Given the description of an element on the screen output the (x, y) to click on. 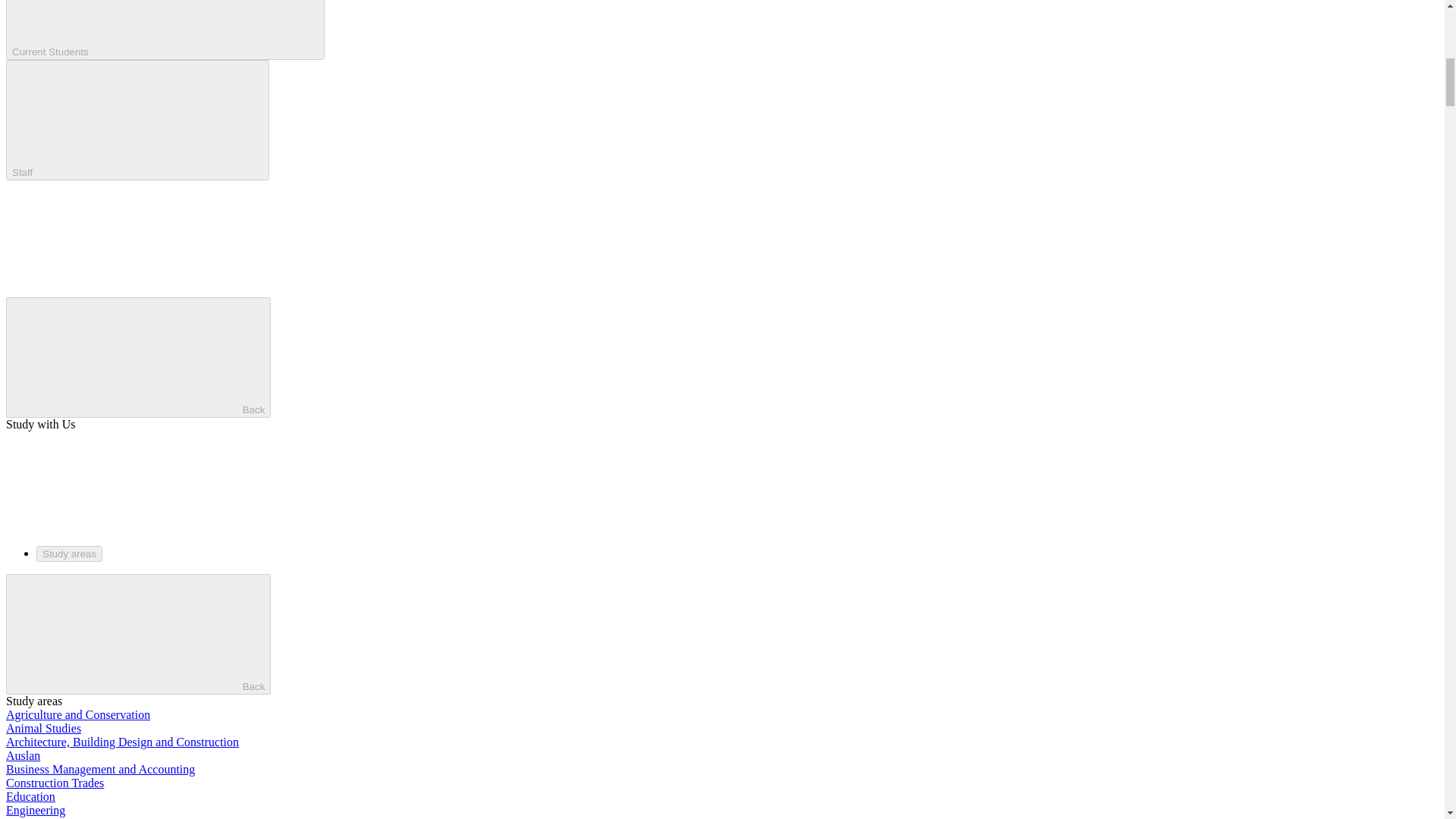
Architecture, Building Design and Construction (121, 741)
Study areas (68, 553)
Animal Studies (43, 727)
Agriculture and Conservation (77, 714)
Back (137, 634)
Business Management and Accounting (100, 768)
Back (137, 357)
Auslan (22, 755)
Staff (137, 119)
